Given the description of an element on the screen output the (x, y) to click on. 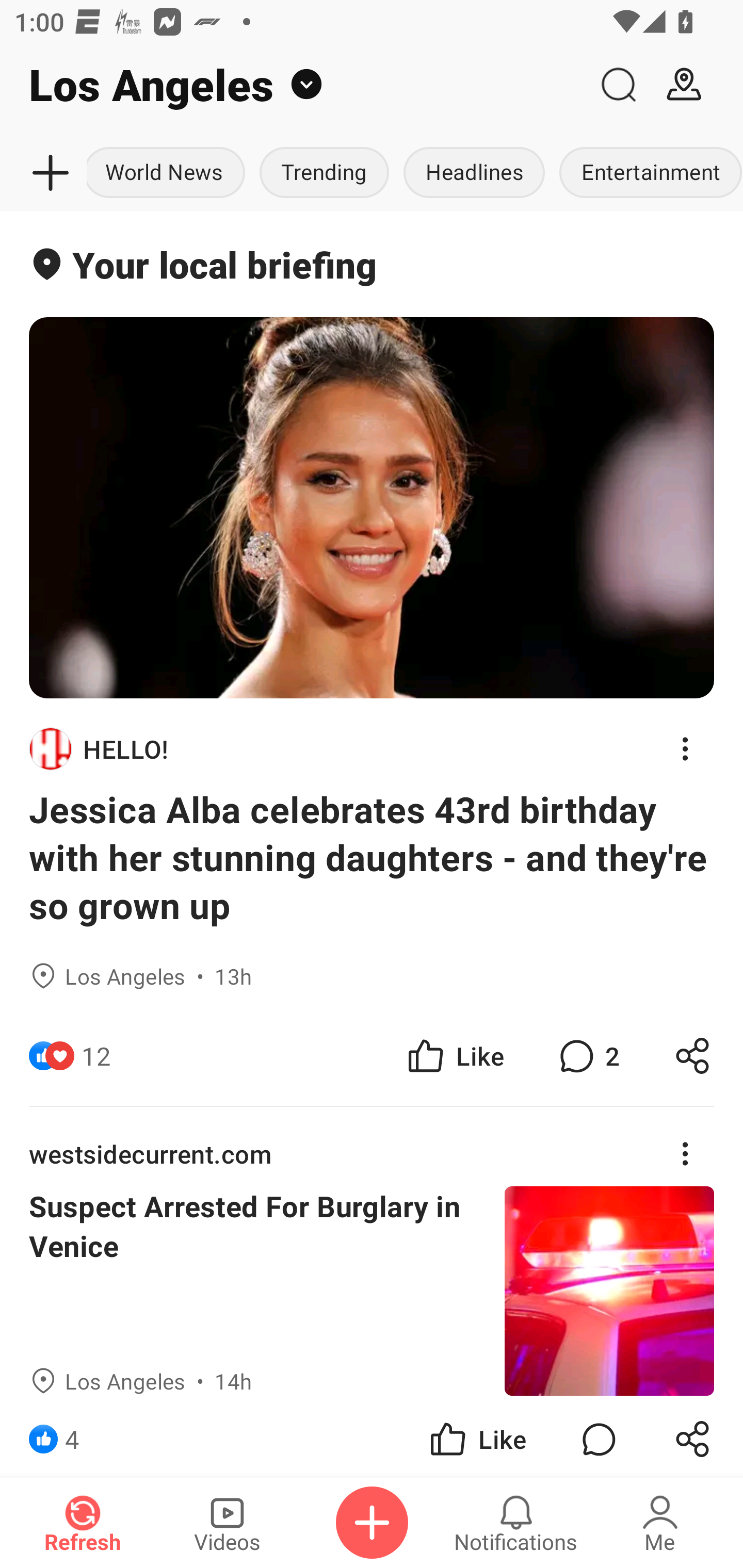
Los Angeles (292, 84)
World News (169, 172)
Trending (324, 172)
Headlines (474, 172)
Entertainment (647, 172)
12 (95, 1055)
Like (454, 1055)
2 (587, 1055)
4 (72, 1436)
Like (476, 1436)
Videos (227, 1522)
Notifications (516, 1522)
Me (659, 1522)
